Given the description of an element on the screen output the (x, y) to click on. 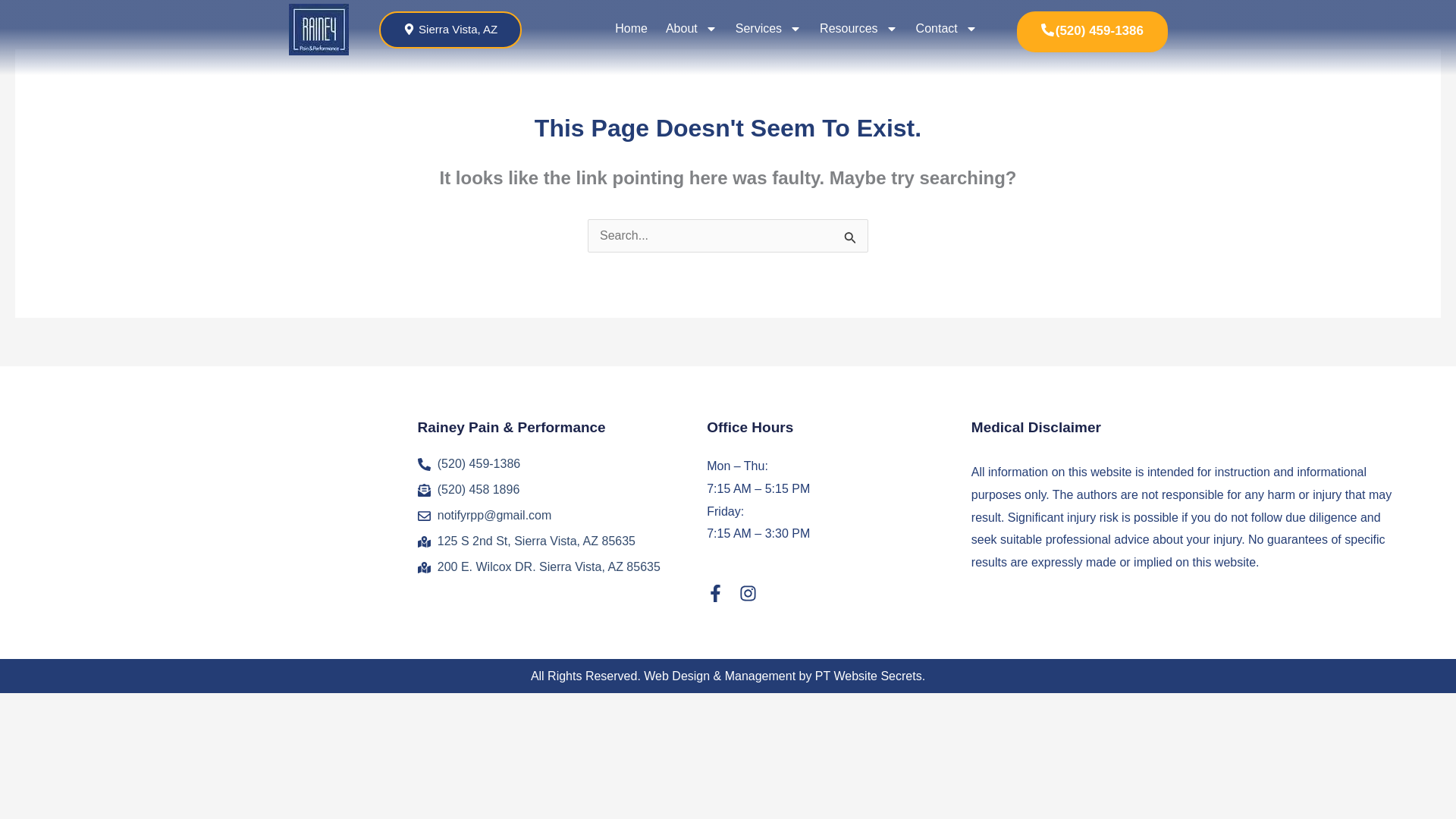
Search (850, 240)
125 S 2nd St, Sierra Vista, AZ 85635, United States (230, 512)
Search (850, 240)
Home (630, 28)
Resources (857, 28)
About (691, 28)
Contact (947, 28)
Sierra Vista, AZ (449, 29)
Services (768, 28)
